Given the description of an element on the screen output the (x, y) to click on. 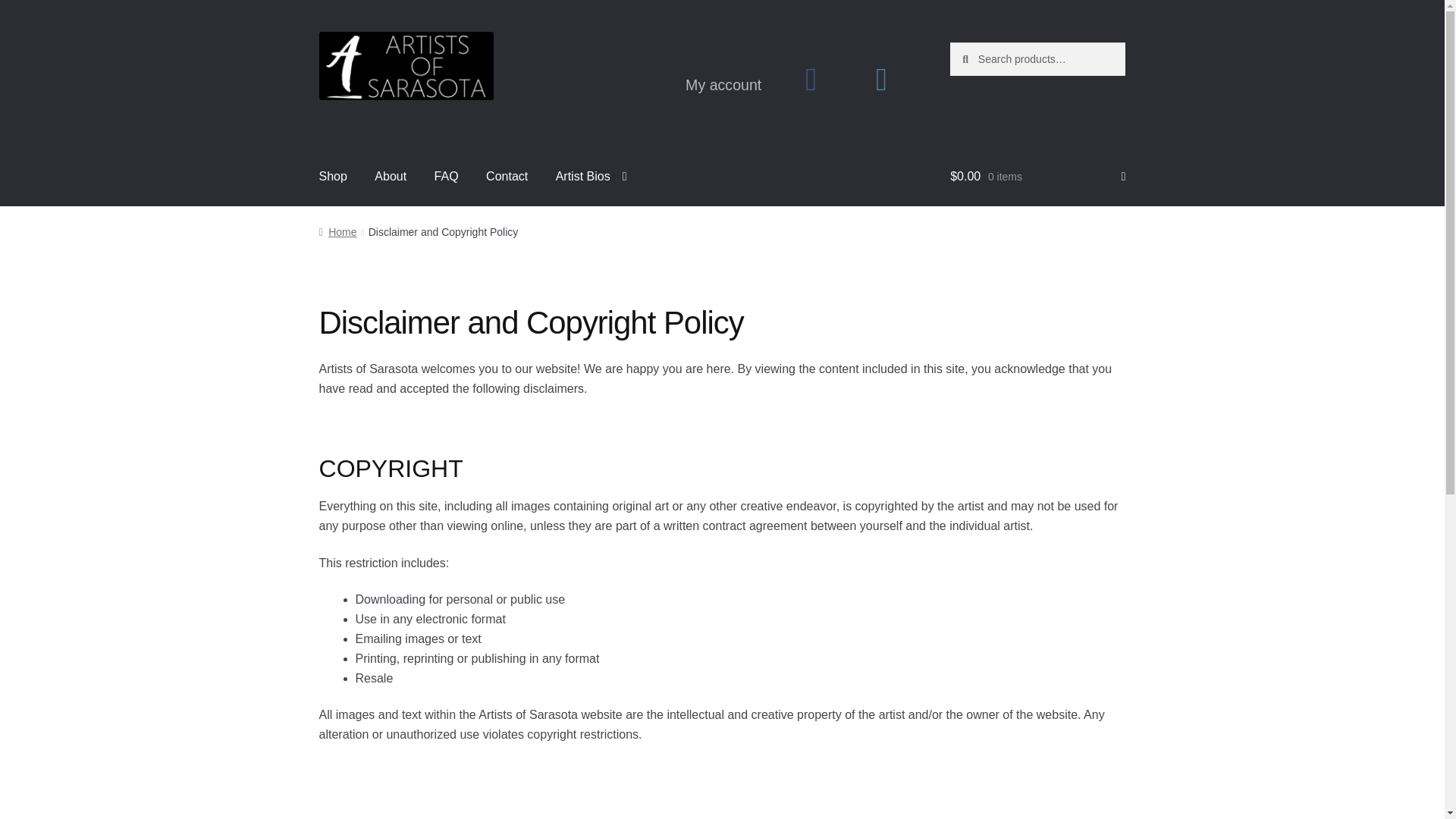
View your shopping cart (1037, 176)
My account (723, 85)
Home (337, 232)
Artist Bios (591, 176)
About (390, 176)
Contact (507, 176)
